Given the description of an element on the screen output the (x, y) to click on. 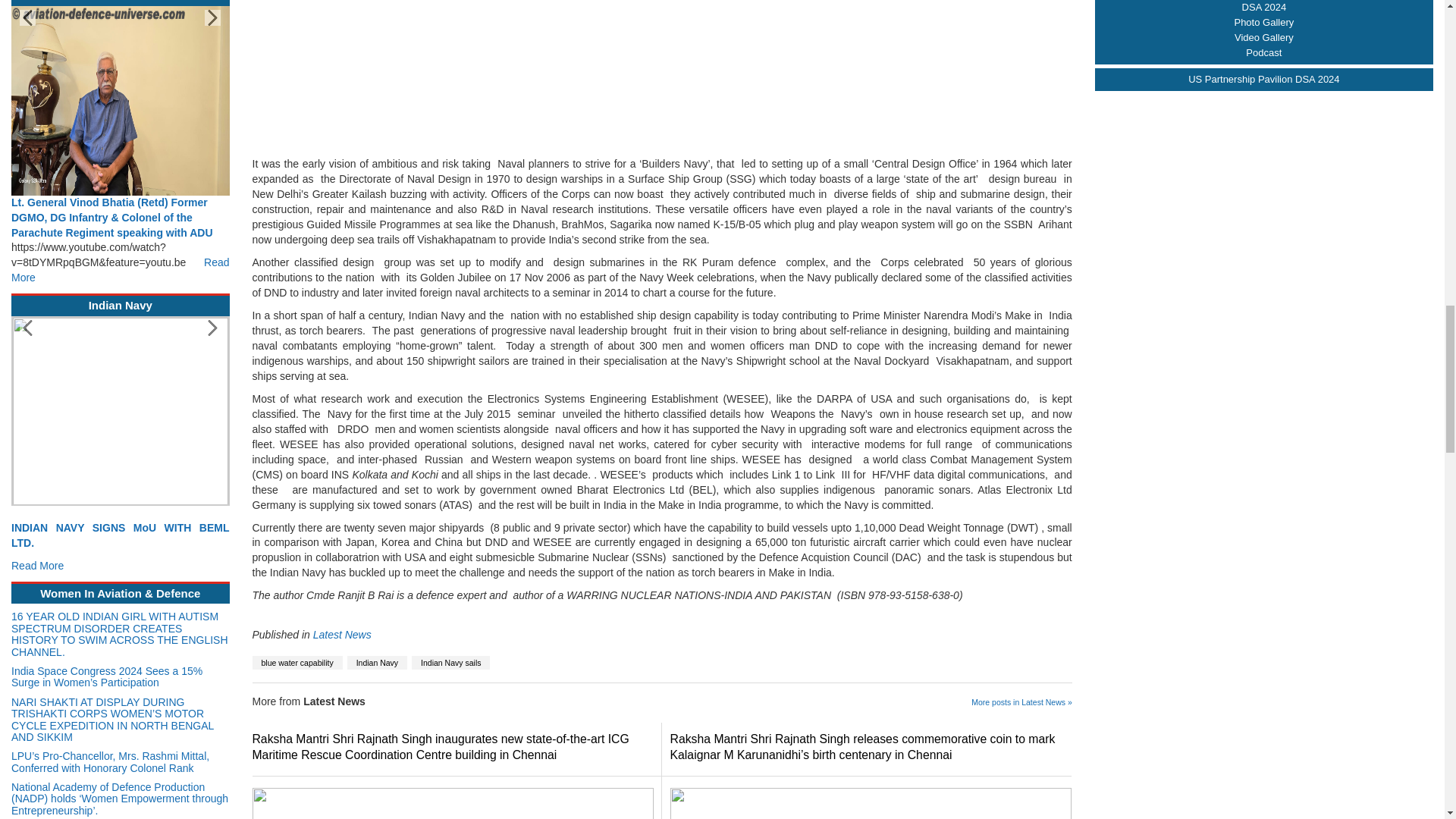
View all posts tagged Indian Navy (377, 662)
View all posts tagged Indian Navy sails (450, 662)
View all posts in Latest News (342, 634)
View all posts tagged blue water capability (296, 662)
